Given the description of an element on the screen output the (x, y) to click on. 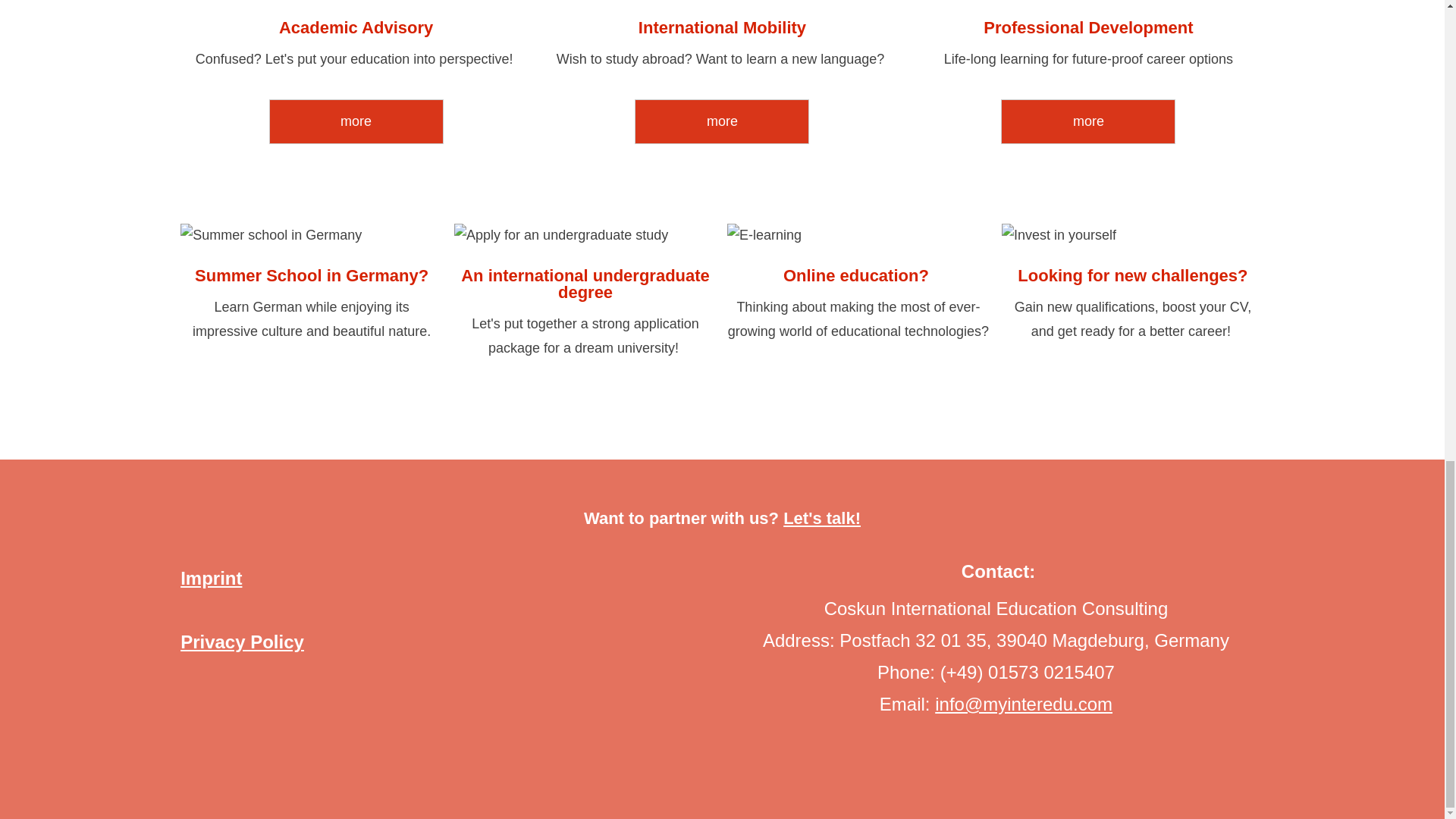
Apply for an undergraduate study (585, 235)
Invest in yourself (1132, 235)
Let's talk! (821, 517)
more (1087, 121)
Privacy Policy (242, 641)
Summer school in Germany (311, 235)
more (356, 121)
E-learning (858, 235)
more (721, 121)
Imprint (210, 578)
